Given the description of an element on the screen output the (x, y) to click on. 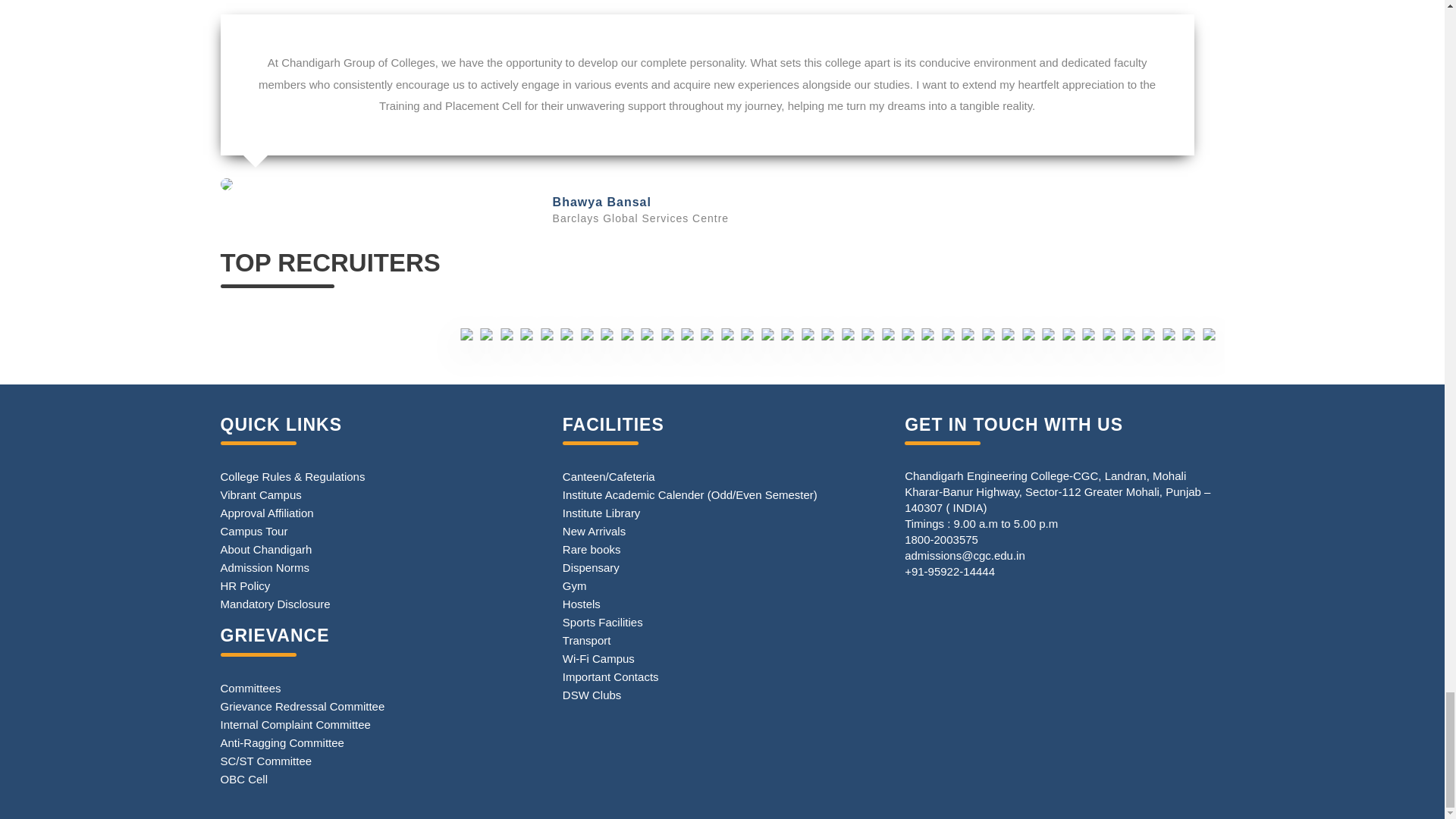
Toll-Free (941, 539)
Whatsapp (949, 571)
Email-Id (964, 554)
